Given the description of an element on the screen output the (x, y) to click on. 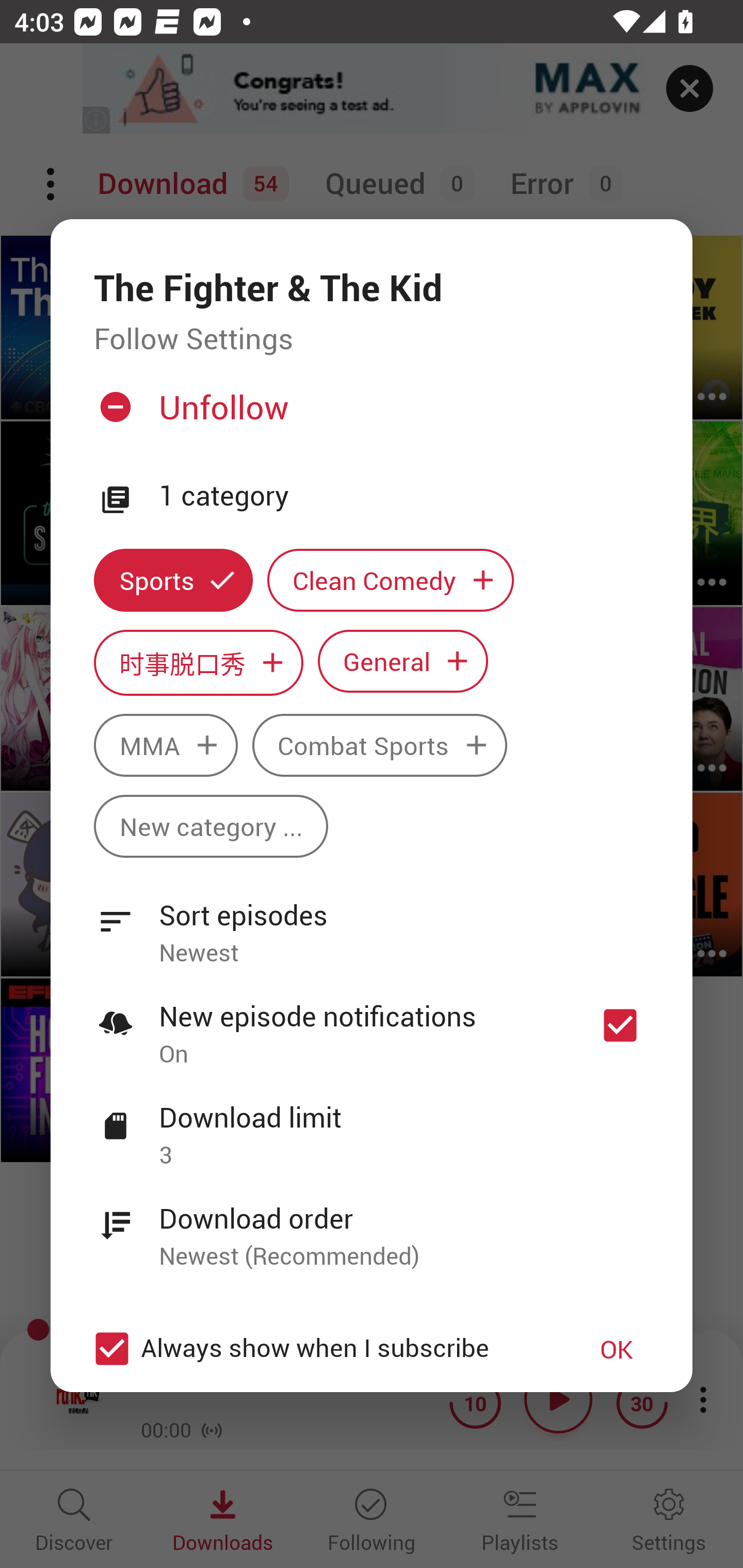
Unfollow (369, 415)
1 category (404, 495)
Sports (172, 579)
Clean Comedy (390, 579)
时事脱口秀 (198, 663)
General (403, 661)
MMA (165, 744)
Combat Sports (379, 744)
New category ... (210, 825)
Sort episodes Newest (371, 922)
New episode notifications (620, 1025)
Download limit 3 (371, 1125)
Download order Newest (Recommended) (371, 1226)
OK (616, 1349)
Always show when I subscribe (320, 1349)
